Given the description of an element on the screen output the (x, y) to click on. 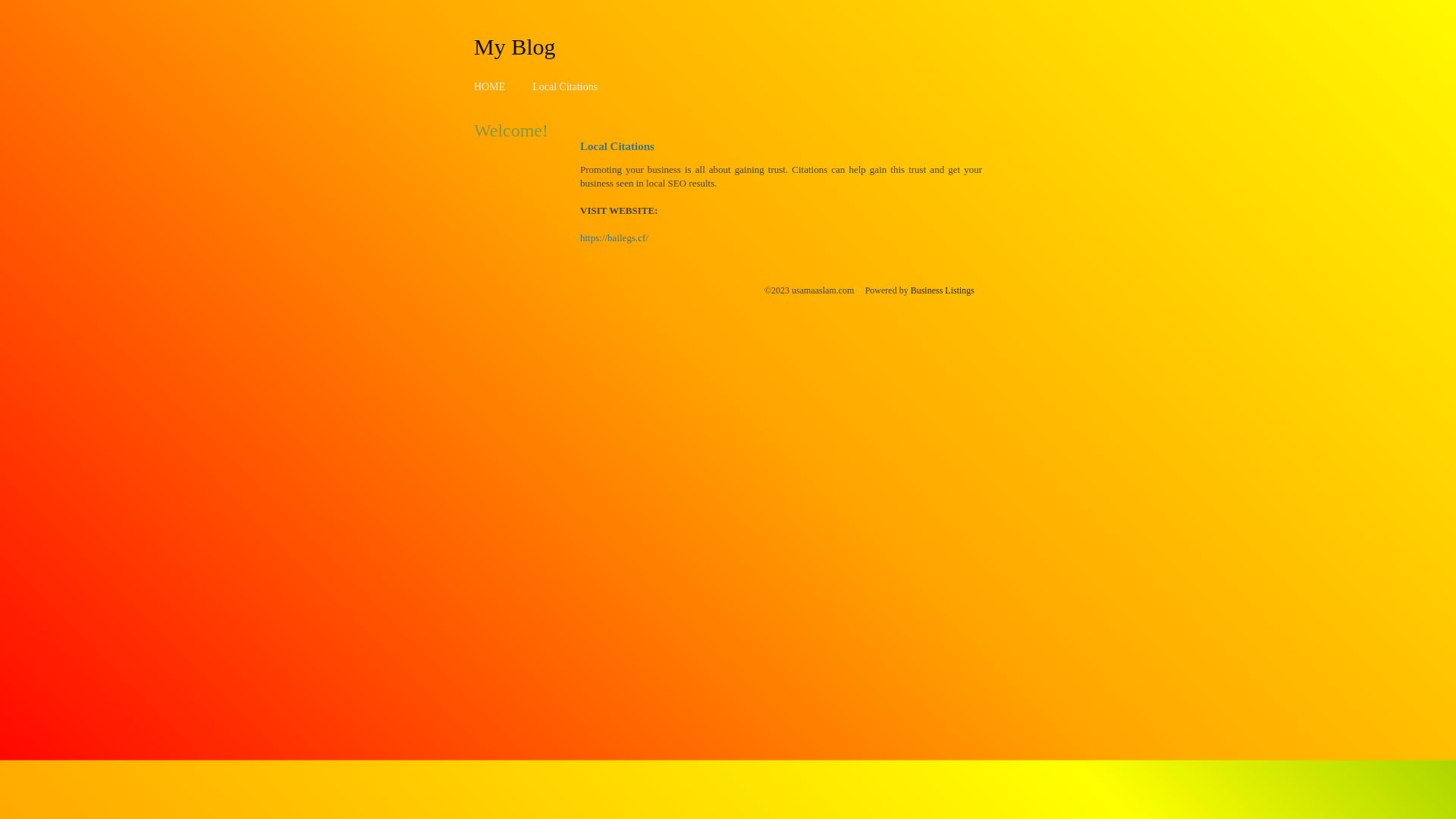
Business Listings Element type: text (942, 290)
https://bailegs.cf/ Element type: text (614, 237)
Local Citations Element type: text (564, 86)
HOME Element type: text (489, 86)
My Blog Element type: text (514, 46)
